Given the description of an element on the screen output the (x, y) to click on. 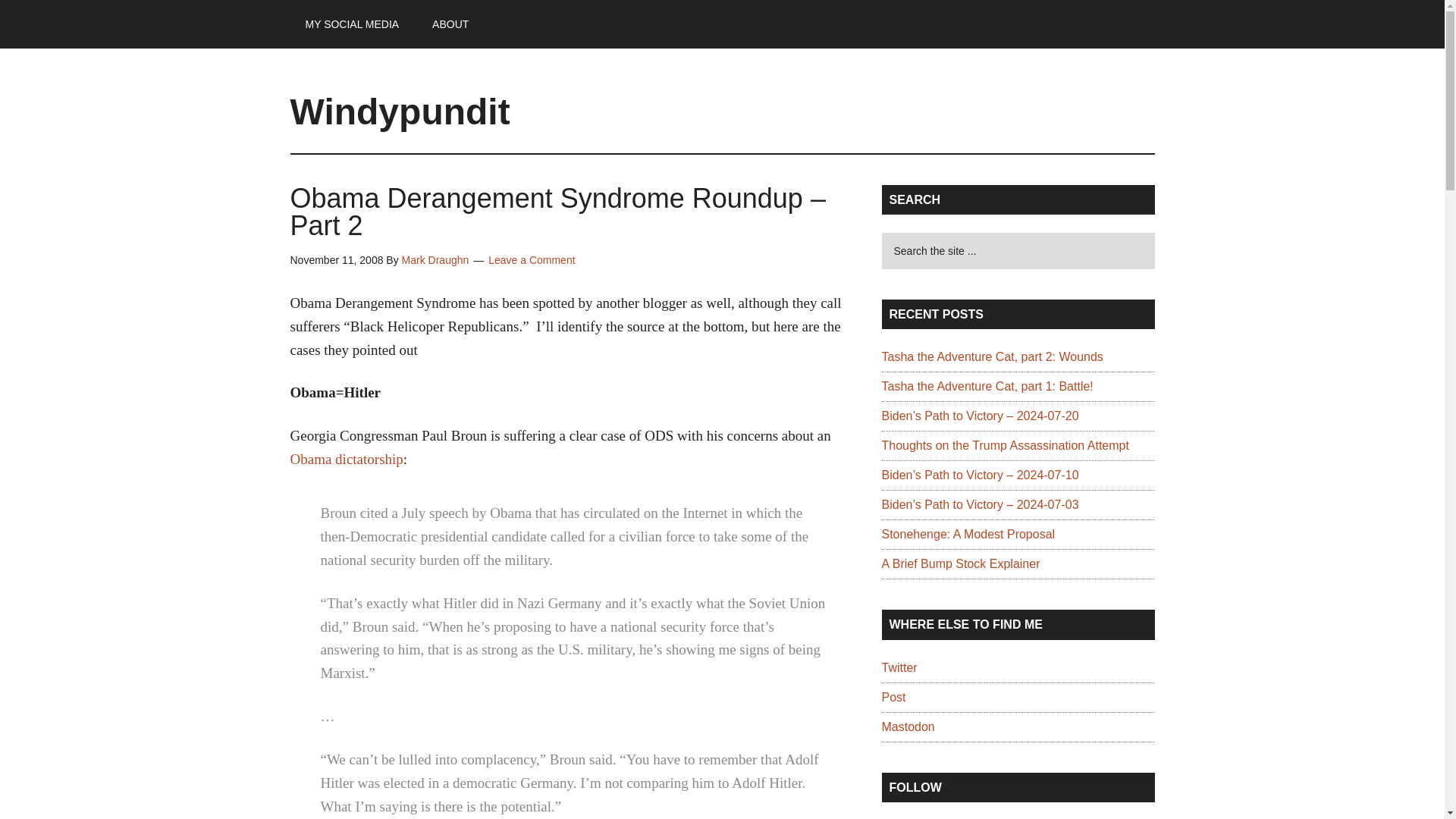
ABOUT (449, 24)
Windypundit (399, 111)
Twitter (898, 667)
A Brief Bump Stock Explainer (959, 563)
Post (892, 697)
Obama dictatorship (346, 458)
Tasha the Adventure Cat, part 2: Wounds (991, 356)
Mastodon (907, 726)
